Given the description of an element on the screen output the (x, y) to click on. 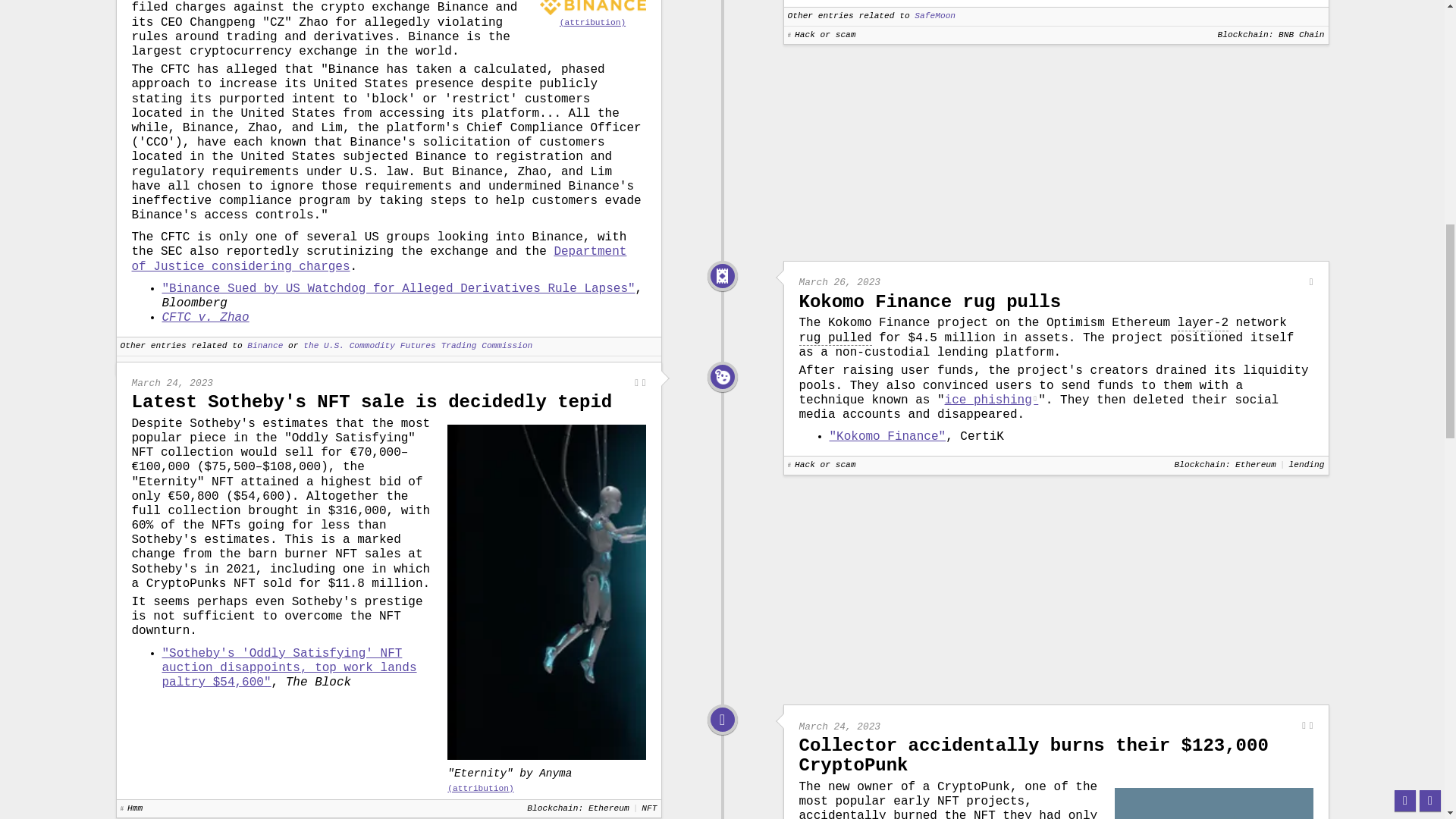
Kokomo Finance rug pulls (930, 301)
Hmm (721, 376)
Bummer (721, 719)
Department of Justice considering charges (379, 258)
Rug pull (721, 275)
the U.S. Commodity Futures Trading Commission (417, 346)
CFTC v. Zhao (204, 317)
SafeMoon (934, 16)
Binance (264, 346)
